Given the description of an element on the screen output the (x, y) to click on. 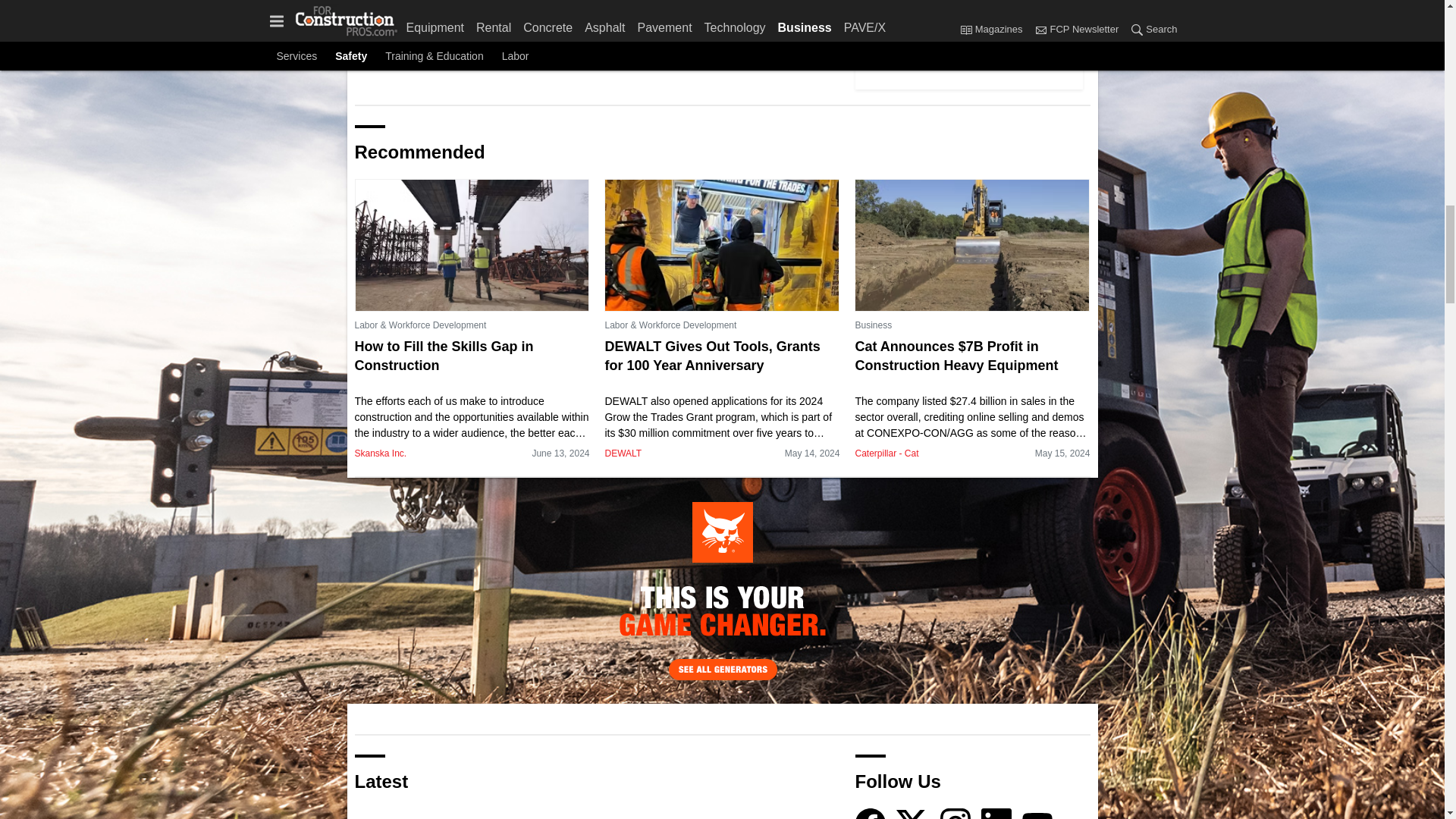
LinkedIn icon (996, 813)
Instagram icon (955, 813)
Facebook icon (870, 813)
Twitter X icon (911, 813)
YouTube icon (1037, 813)
